Given the description of an element on the screen output the (x, y) to click on. 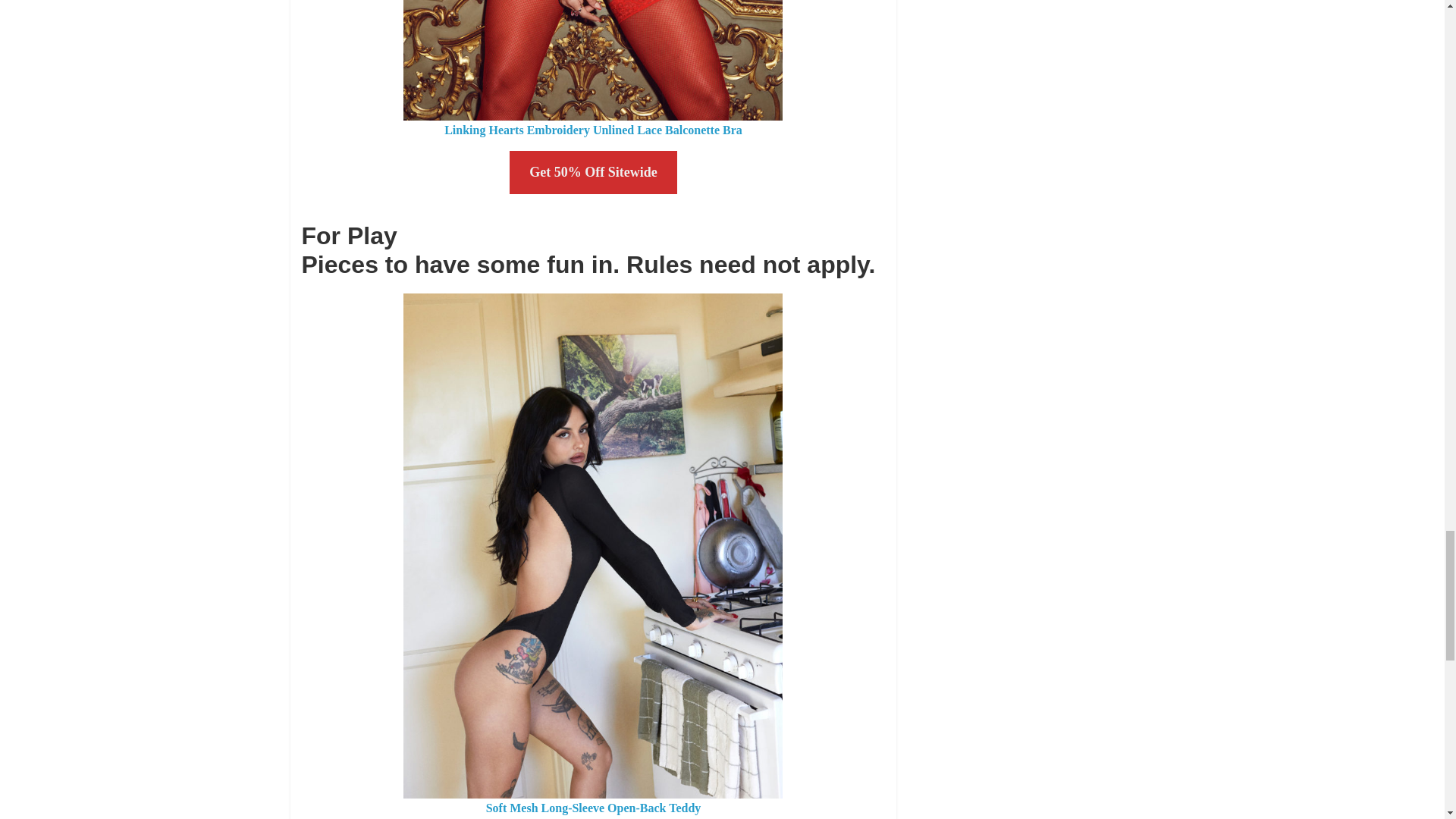
Soft Mesh Long-Sleeve Open-Back Teddy (593, 807)
Linking Hearts Embroidery Unlined Lace Balconette Bra (593, 129)
